Given the description of an element on the screen output the (x, y) to click on. 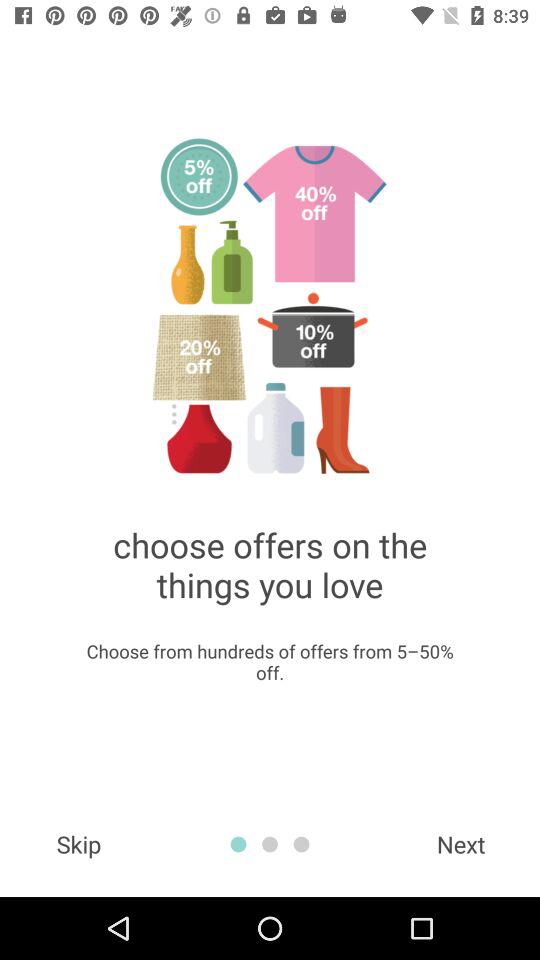
turn off next icon (461, 844)
